Given the description of an element on the screen output the (x, y) to click on. 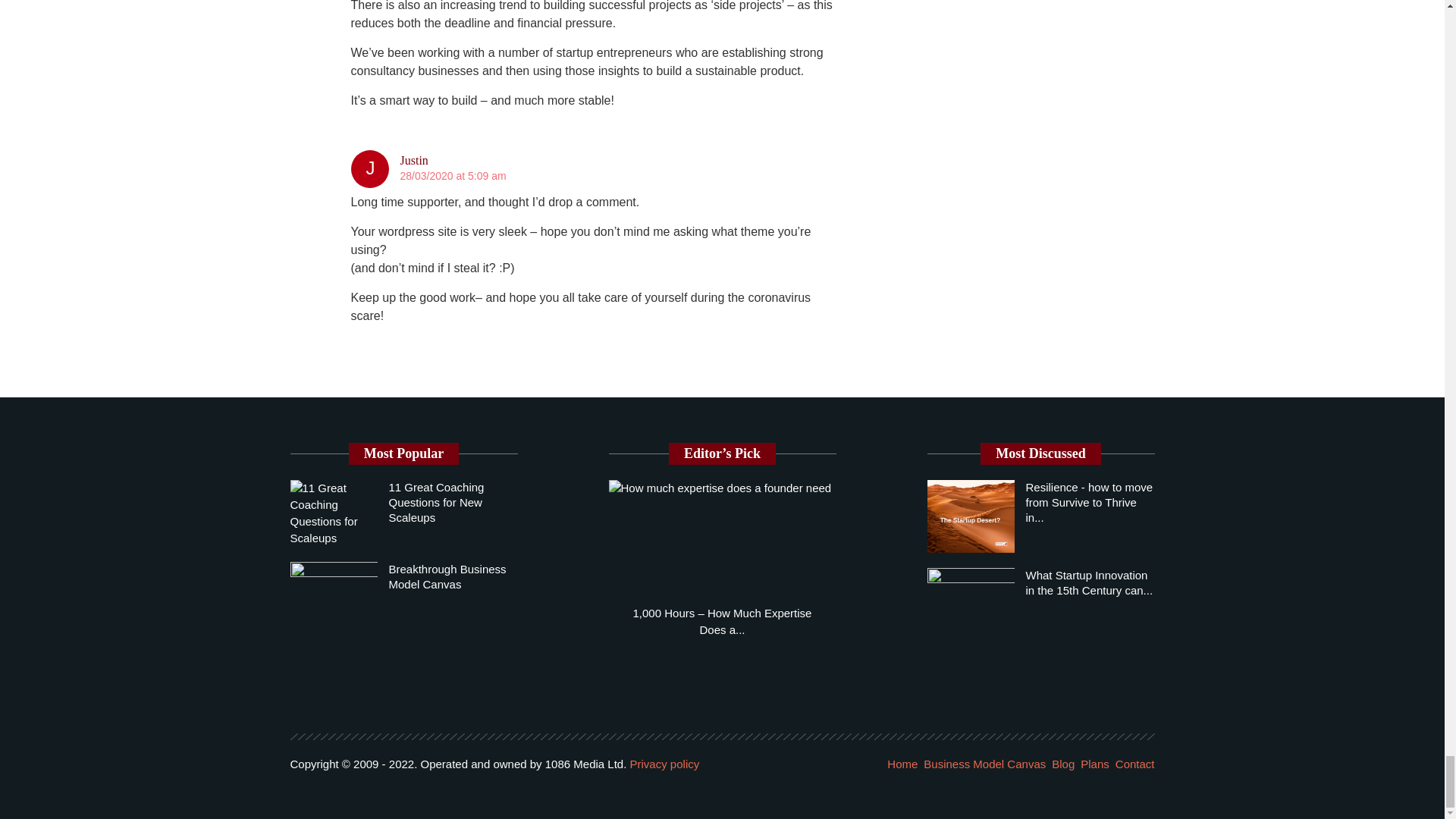
11 Great Coaching Questions for New Scaleups (333, 513)
11 Great Coaching Questions for New Scaleups (435, 502)
Breakthrough Business Model Canvas (333, 592)
Breakthrough Business Model Canvas (446, 576)
